Given the description of an element on the screen output the (x, y) to click on. 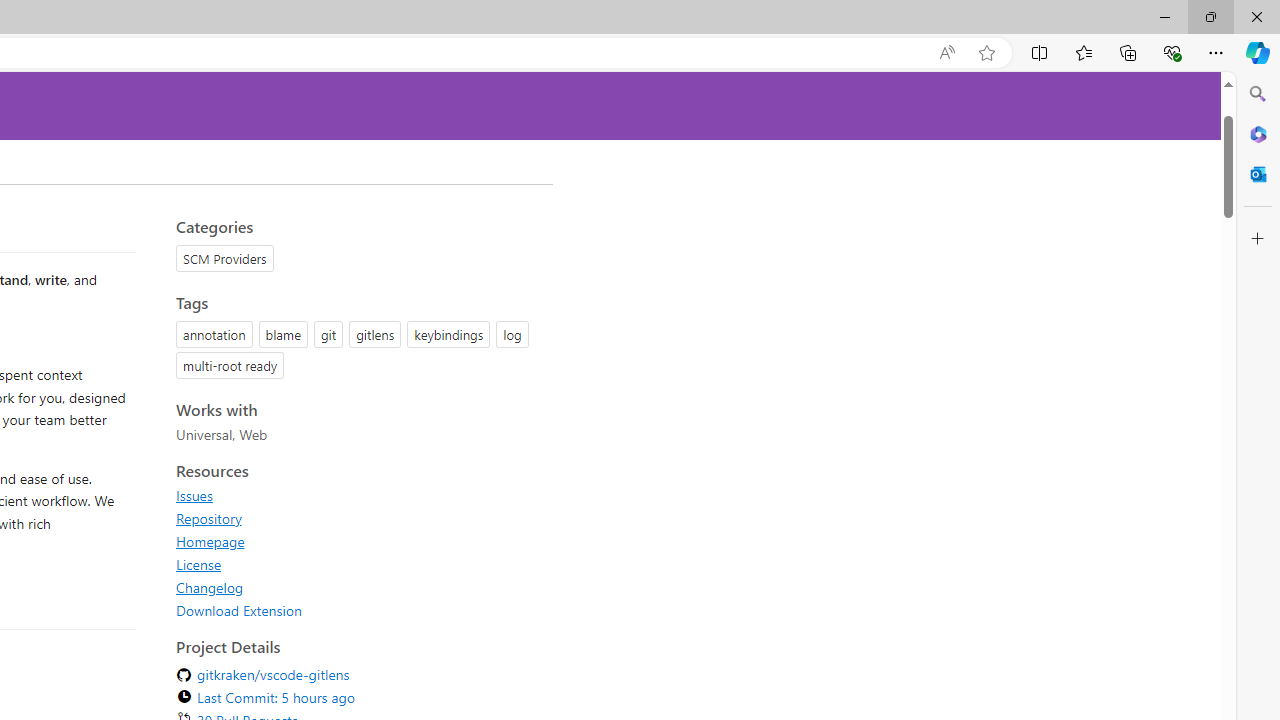
Download Extension (358, 610)
Issues (358, 495)
